Given the description of an element on the screen output the (x, y) to click on. 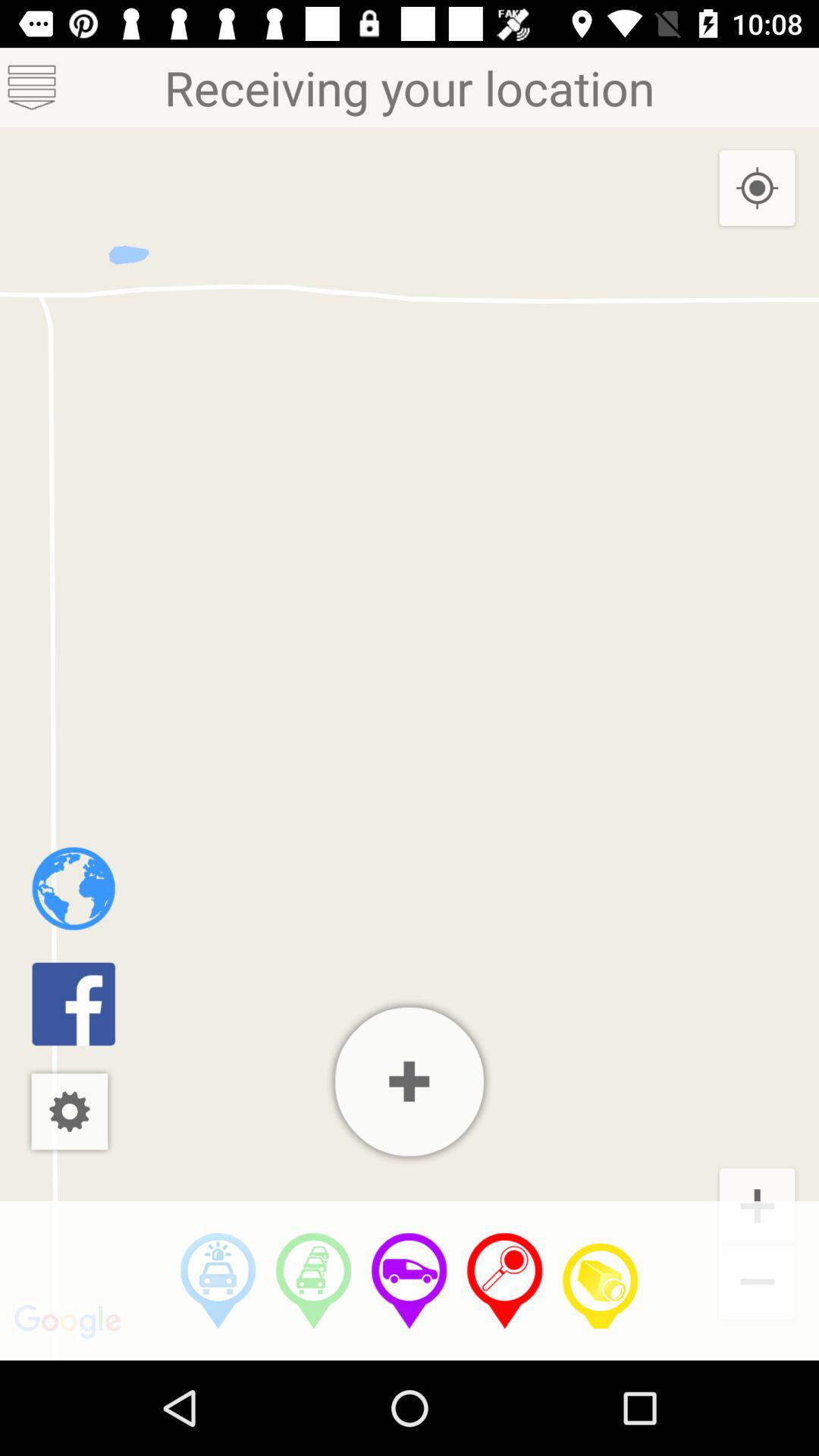
button show location of cameras (600, 1280)
